Given the description of an element on the screen output the (x, y) to click on. 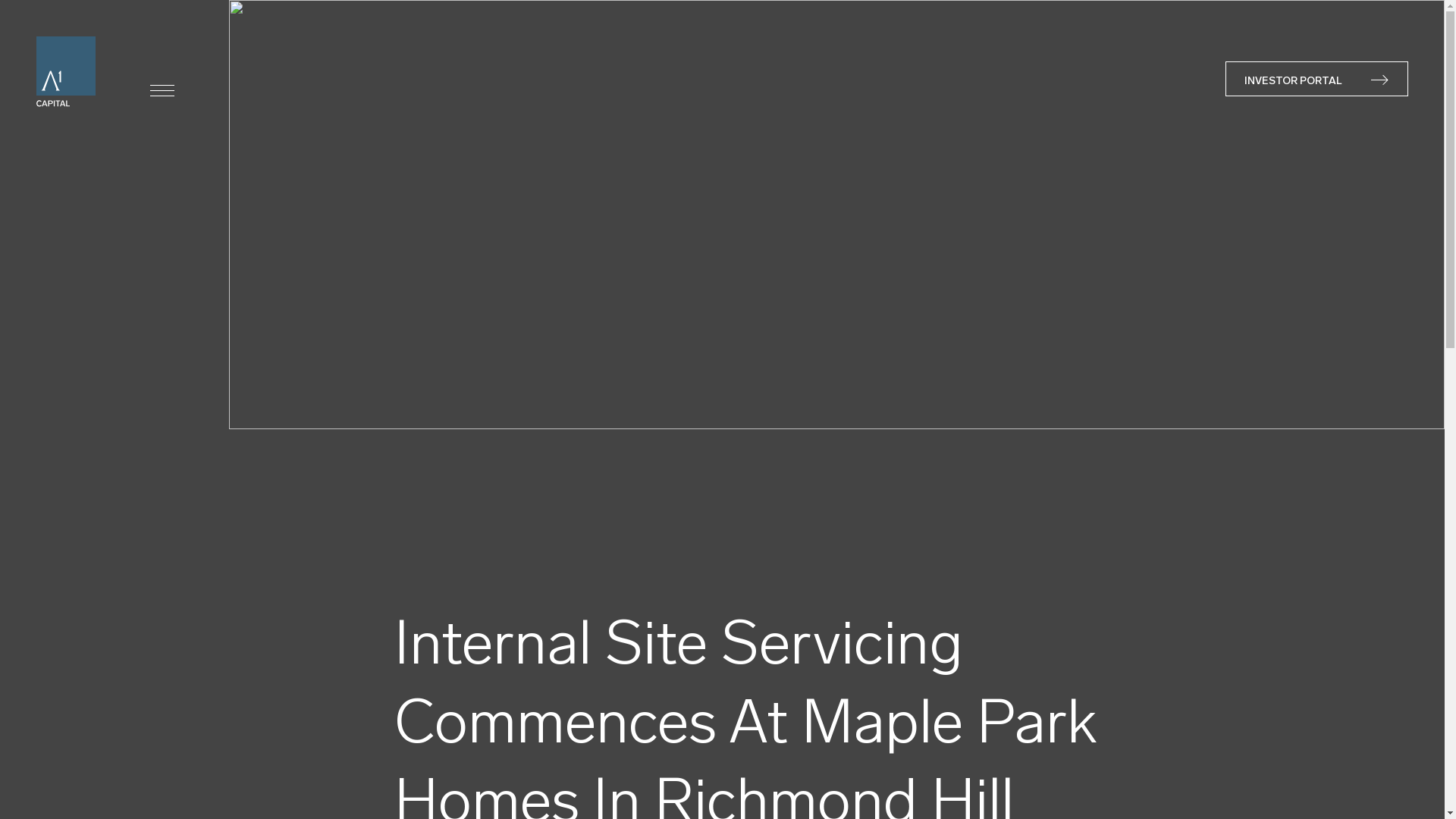
INVESTOR PORTAL Element type: text (1316, 78)
